Given the description of an element on the screen output the (x, y) to click on. 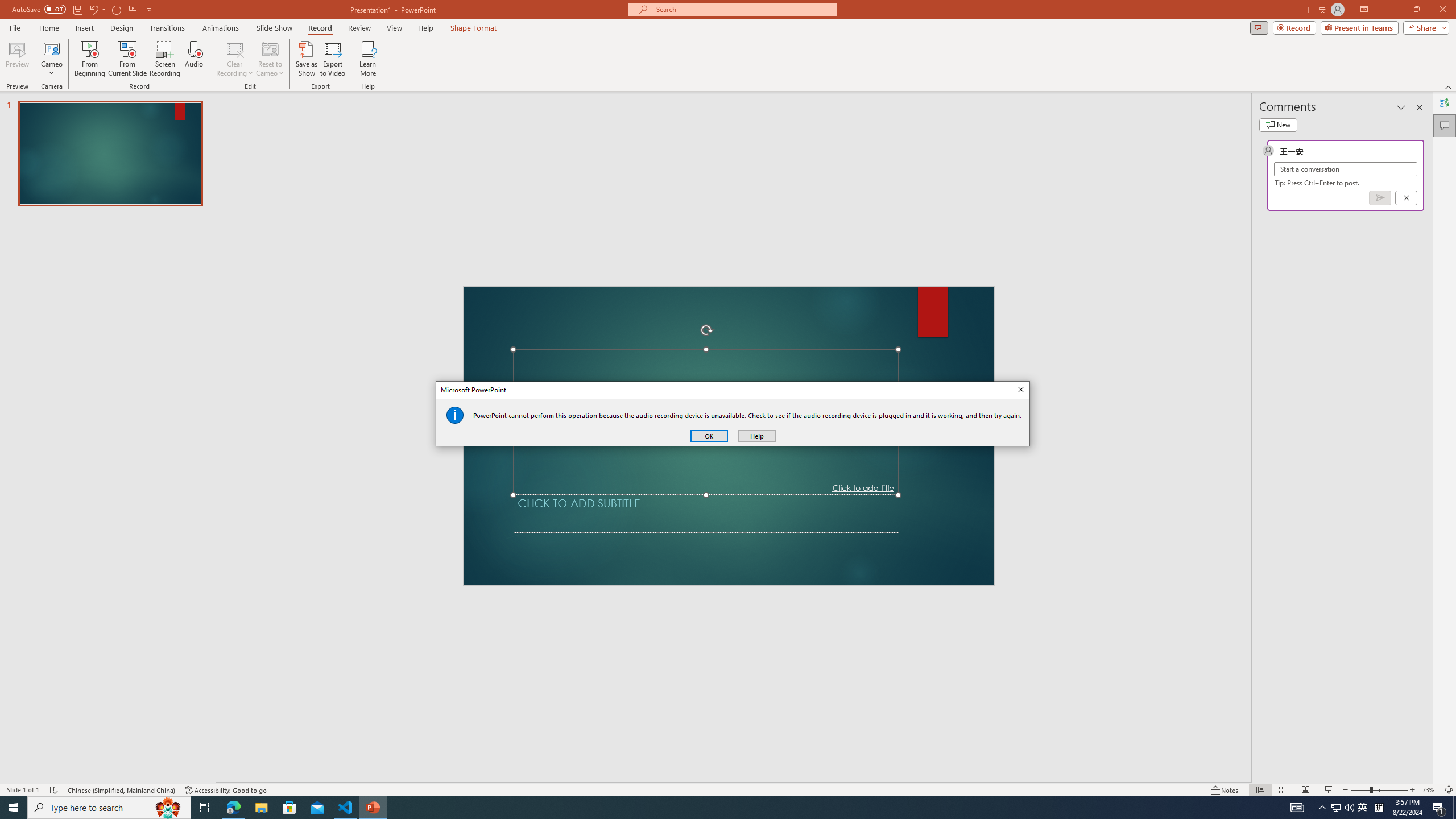
OK (709, 435)
